Given the description of an element on the screen output the (x, y) to click on. 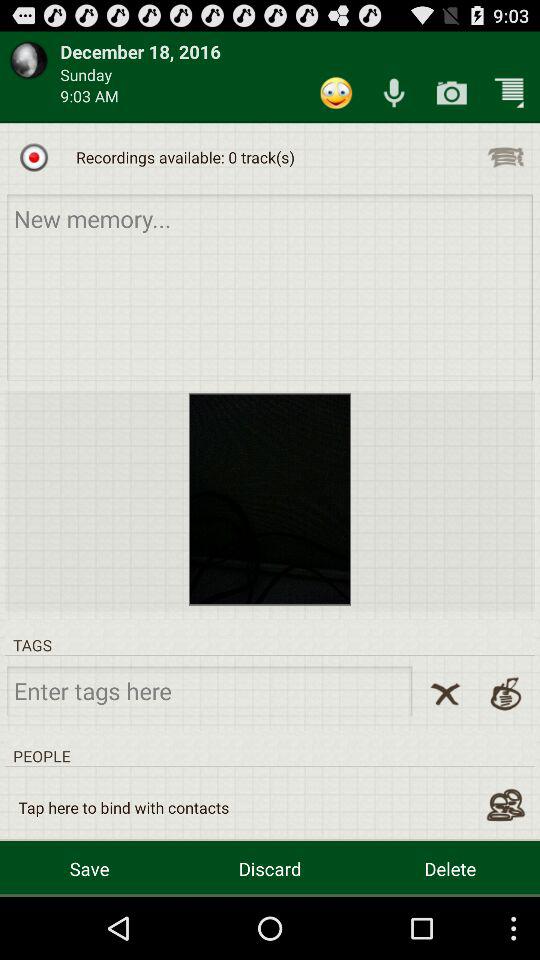
add emojis (336, 92)
